Given the description of an element on the screen output the (x, y) to click on. 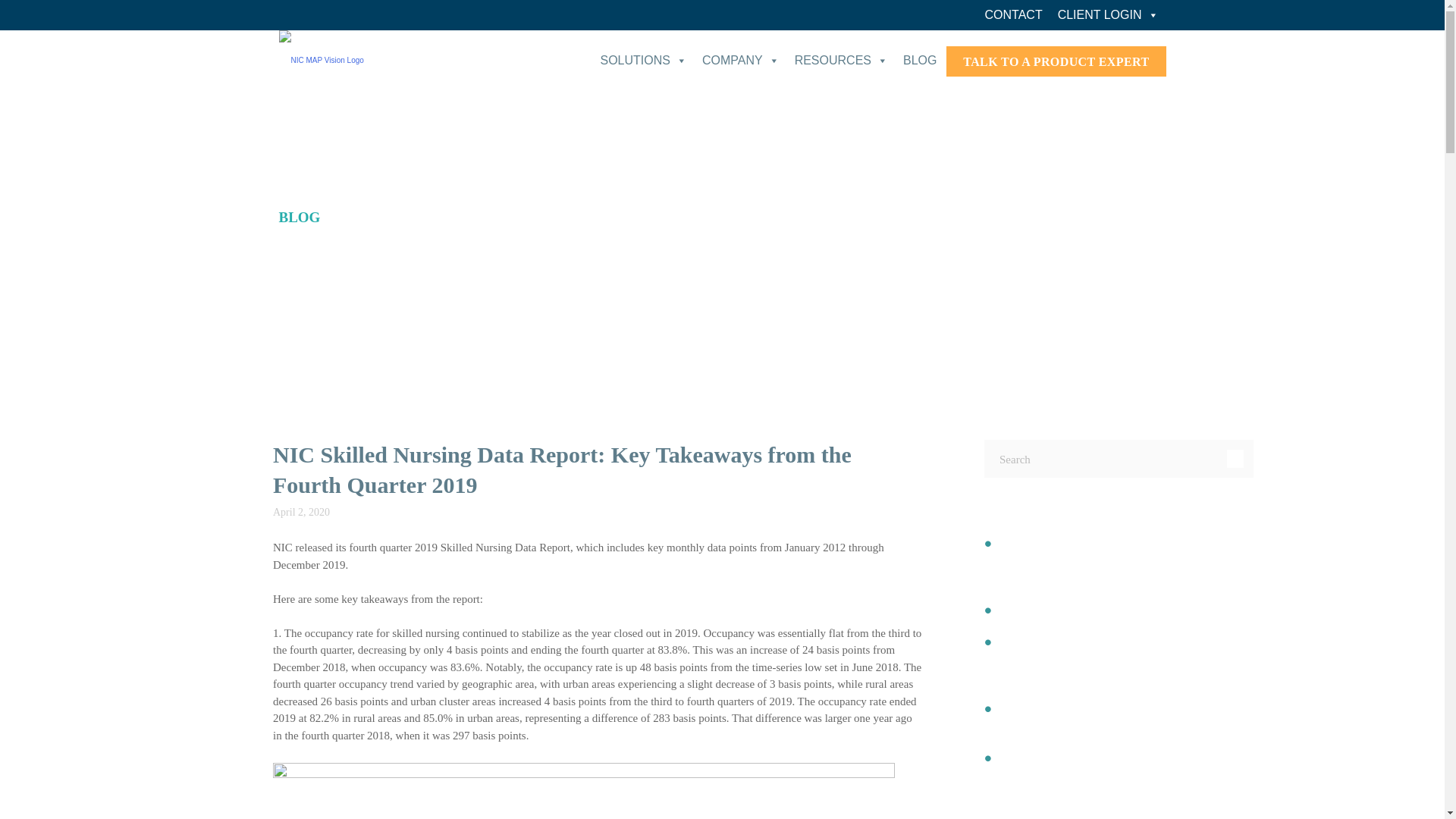
CONTACT (1012, 15)
Search (1235, 458)
COMPANY (740, 60)
CLIENT LOGIN (1107, 15)
Search (1235, 458)
RESOURCES (841, 60)
SOLUTIONS (643, 60)
